Given the description of an element on the screen output the (x, y) to click on. 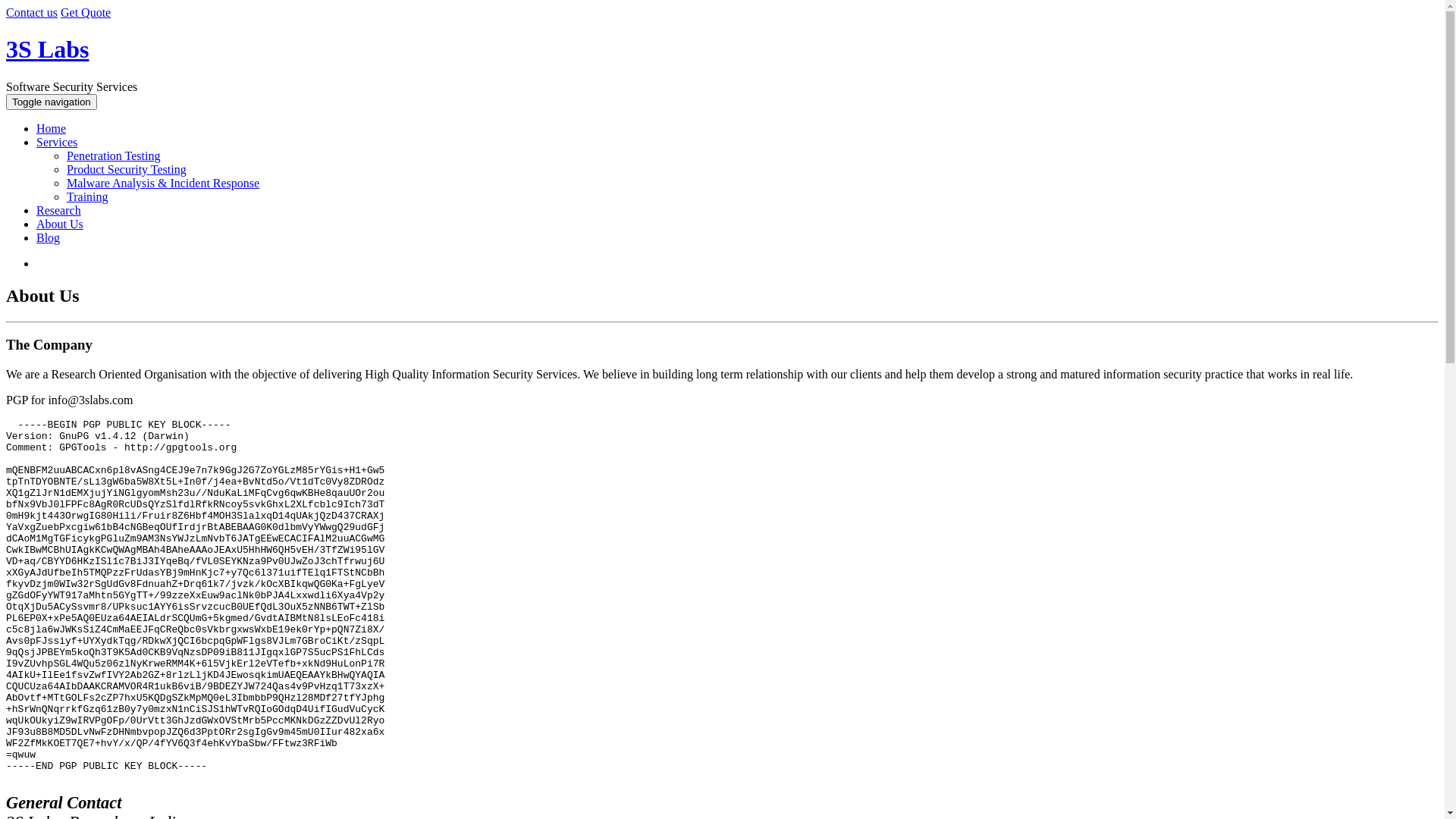
Contact us Element type: text (31, 12)
Training Element type: text (87, 196)
3S Labs Element type: text (47, 48)
Services Element type: text (56, 141)
About Us Element type: text (59, 223)
Get Quote Element type: text (85, 12)
Toggle navigation Element type: text (51, 101)
Malware Analysis & Incident Response Element type: text (162, 182)
Home Element type: text (50, 128)
Blog Element type: text (47, 237)
Research Element type: text (58, 209)
Product Security Testing Element type: text (126, 169)
Penetration Testing Element type: text (113, 155)
